Given the description of an element on the screen output the (x, y) to click on. 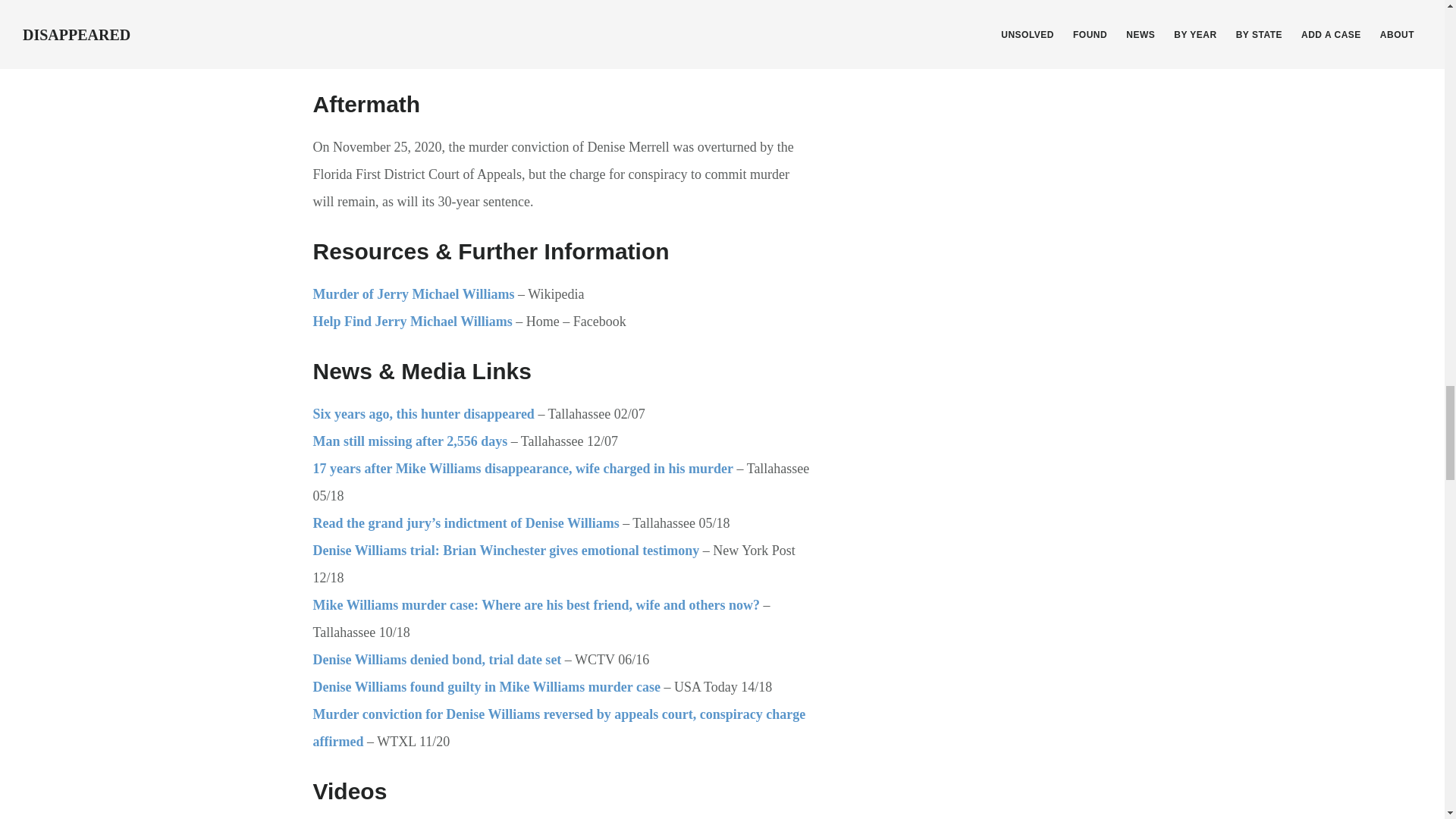
Murder of Jerry Michael Williams (413, 294)
Six years ago, this hunter disappeared (423, 413)
Denise Williams found guilty in Mike Williams murder case (486, 686)
Help Find Jerry Michael Williams (412, 321)
Man still missing after 2,556 days (409, 441)
Denise Williams denied bond, trial date set (436, 659)
